Given the description of an element on the screen output the (x, y) to click on. 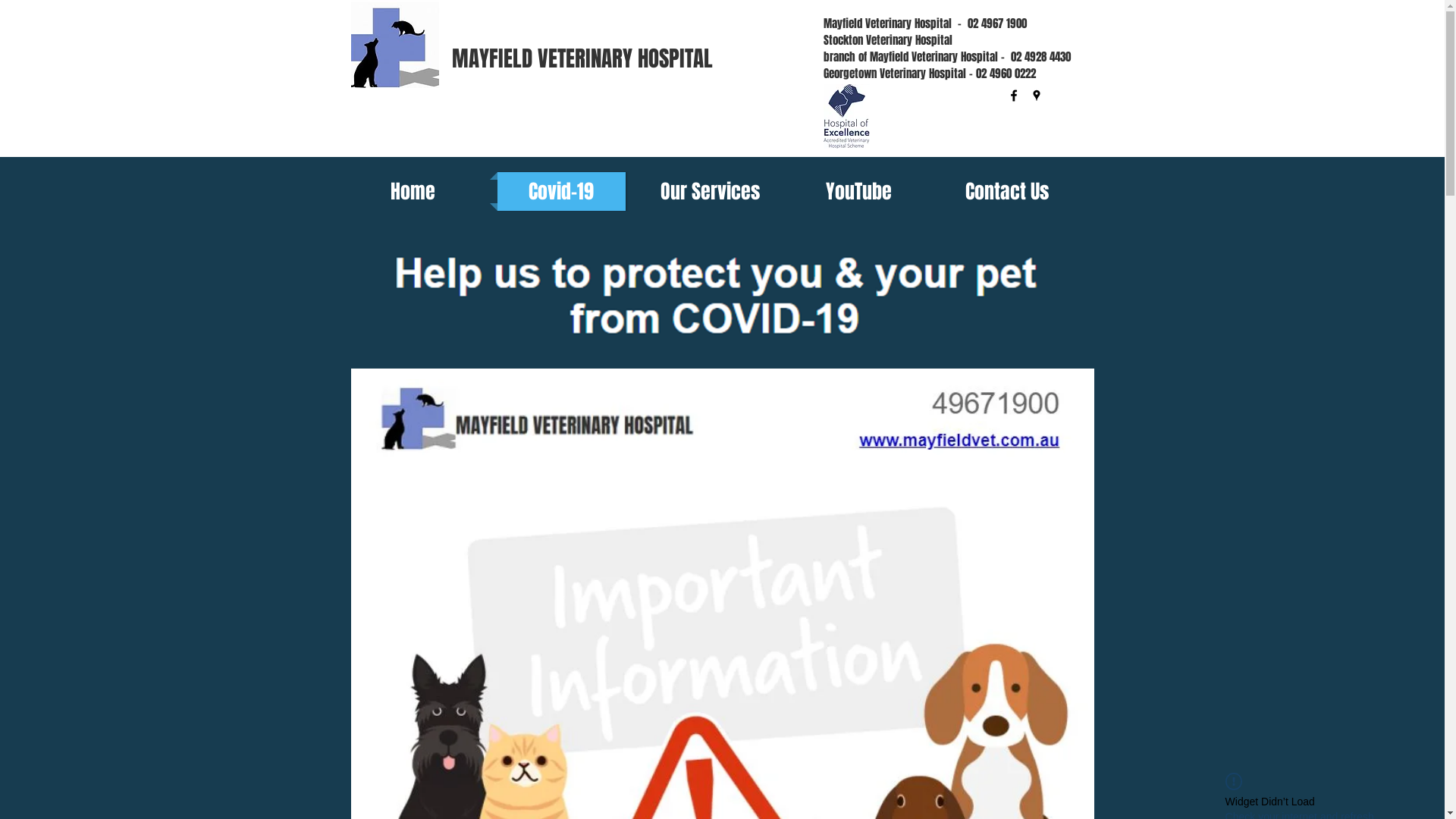
Home Element type: text (412, 191)
Covid-19 Element type: text (561, 191)
Contact Us Element type: text (1007, 191)
Our Services Element type: text (709, 191)
YouTube Element type: text (858, 191)
Untitled Element type: hover (394, 43)
